Given the description of an element on the screen output the (x, y) to click on. 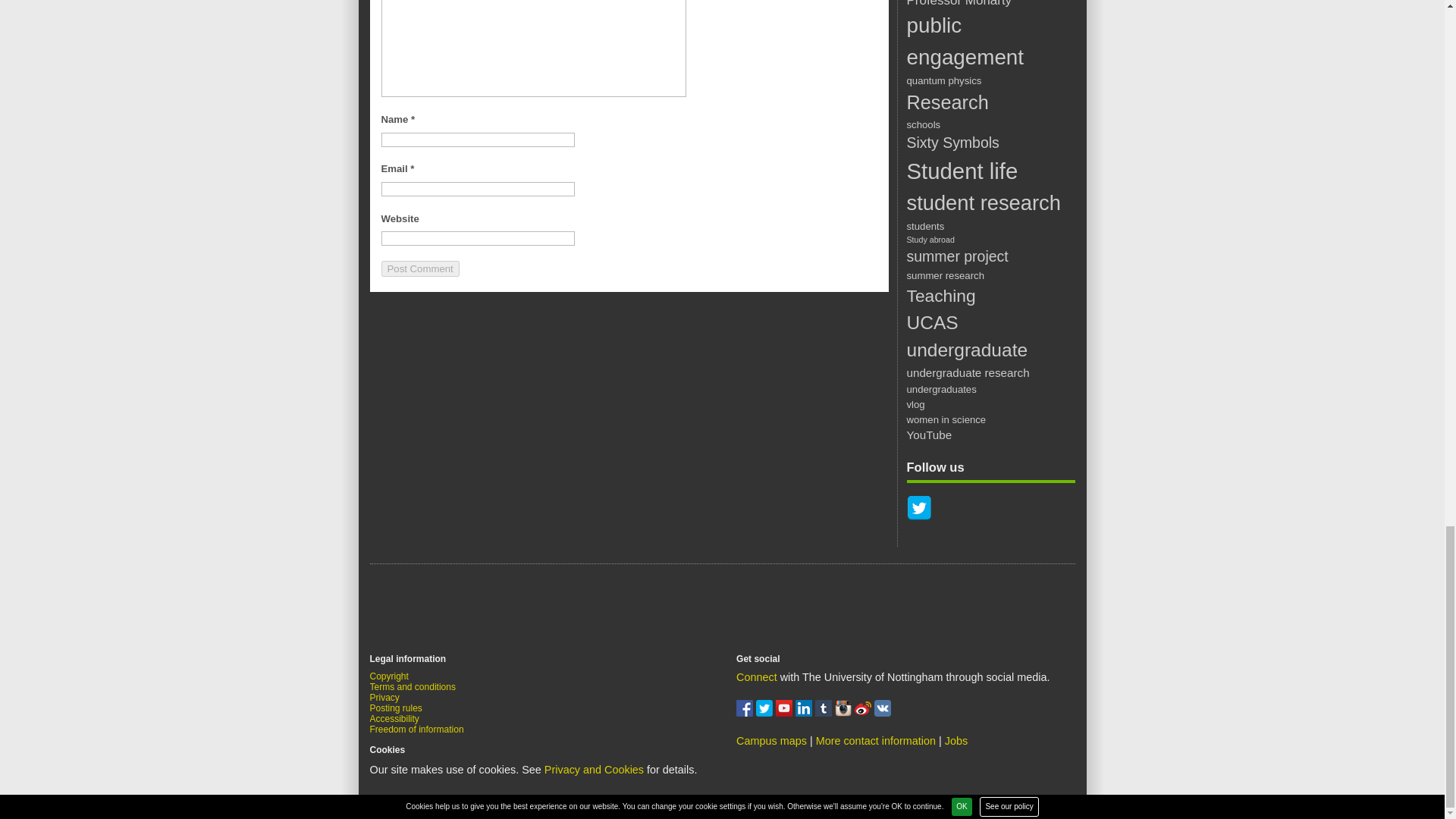
View our campus maps (771, 740)
Get Social with The University of Nottingham (756, 676)
Find us on Instagram (844, 712)
Copyright  (389, 675)
Freedom of information (416, 728)
Join us on Linked in (804, 712)
Join us on vkontakte (883, 712)
Follow us on twitter (765, 712)
Follow our Tumblr (824, 712)
Watch us on You Tube (785, 712)
Find us on facebook (745, 712)
Terms and conditions (412, 686)
Privacy (383, 697)
Accessibility (394, 718)
Posting rules (395, 707)
